Given the description of an element on the screen output the (x, y) to click on. 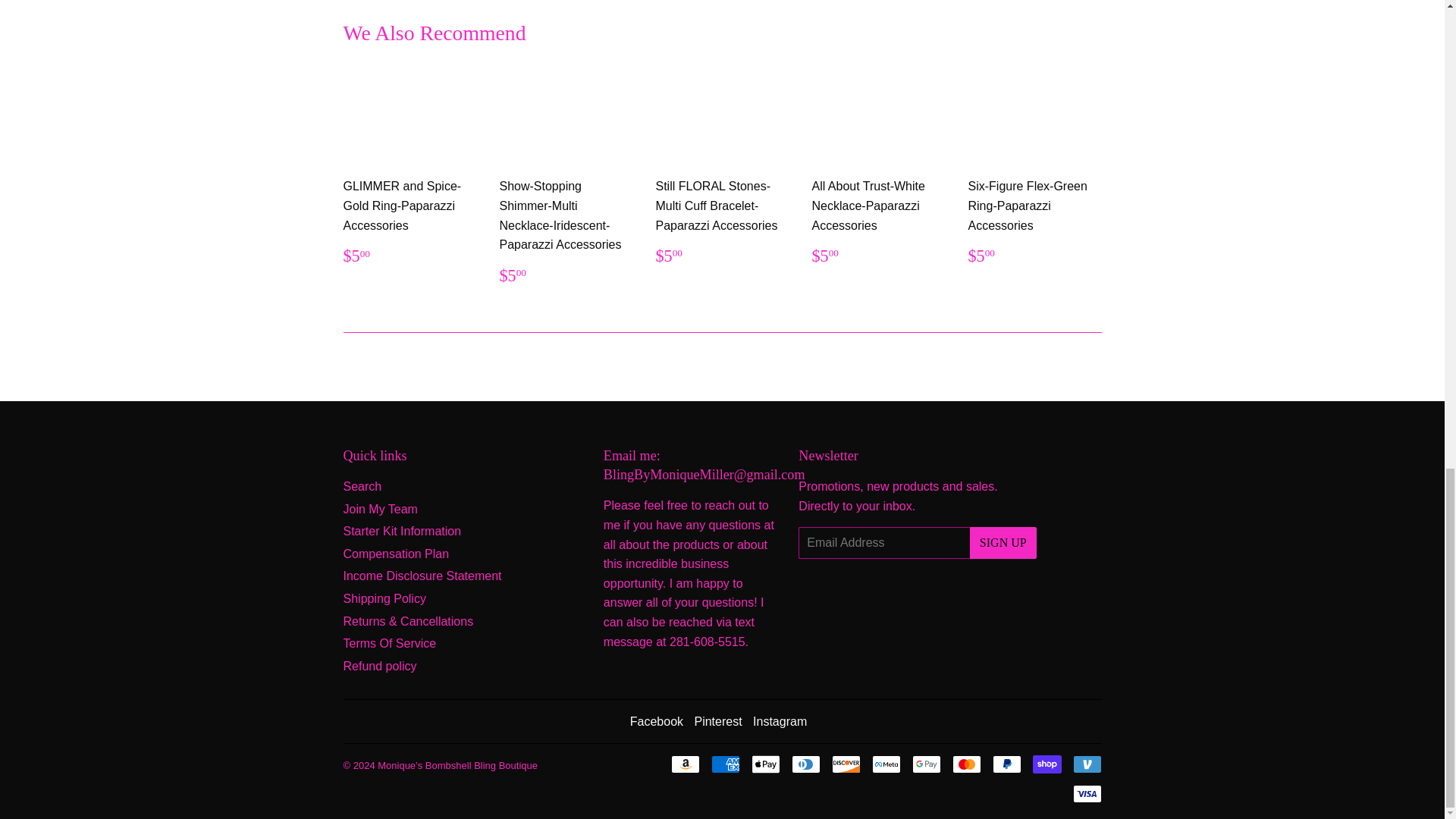
Apple Pay (764, 764)
Discover (845, 764)
Meta Pay (886, 764)
Visa (1085, 793)
Venmo (1085, 764)
Diners Club (806, 764)
Google Pay (925, 764)
Shop Pay (1046, 764)
PayPal (1005, 764)
American Express (725, 764)
